Given the description of an element on the screen output the (x, y) to click on. 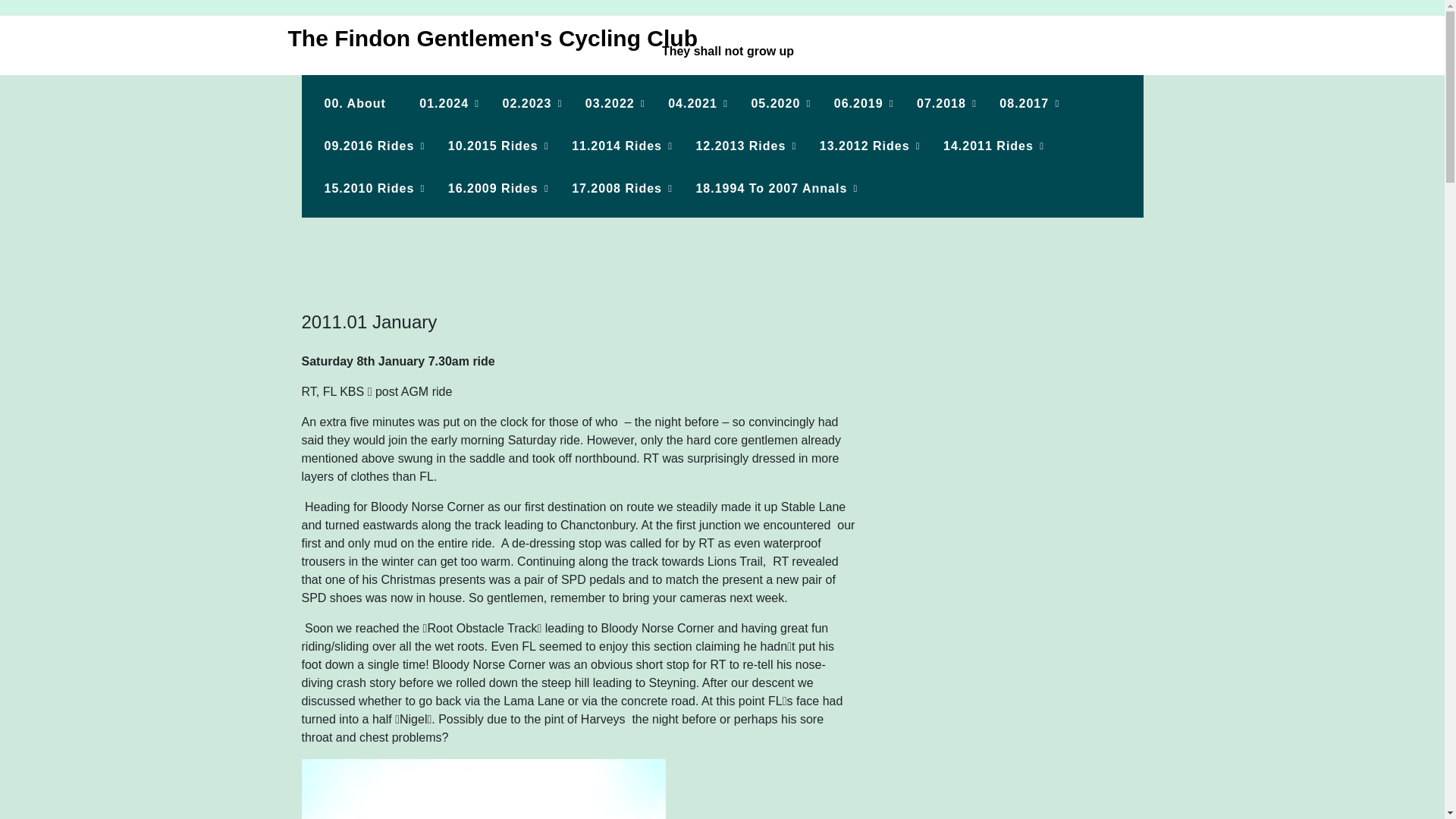
The Findon Gentlemen's Cycling Club (486, 37)
02.2023 (527, 103)
The Findon Gentlemen's Cycling Club (486, 37)
01.2024 (443, 103)
03.2022 (609, 103)
00. About (354, 103)
